Given the description of an element on the screen output the (x, y) to click on. 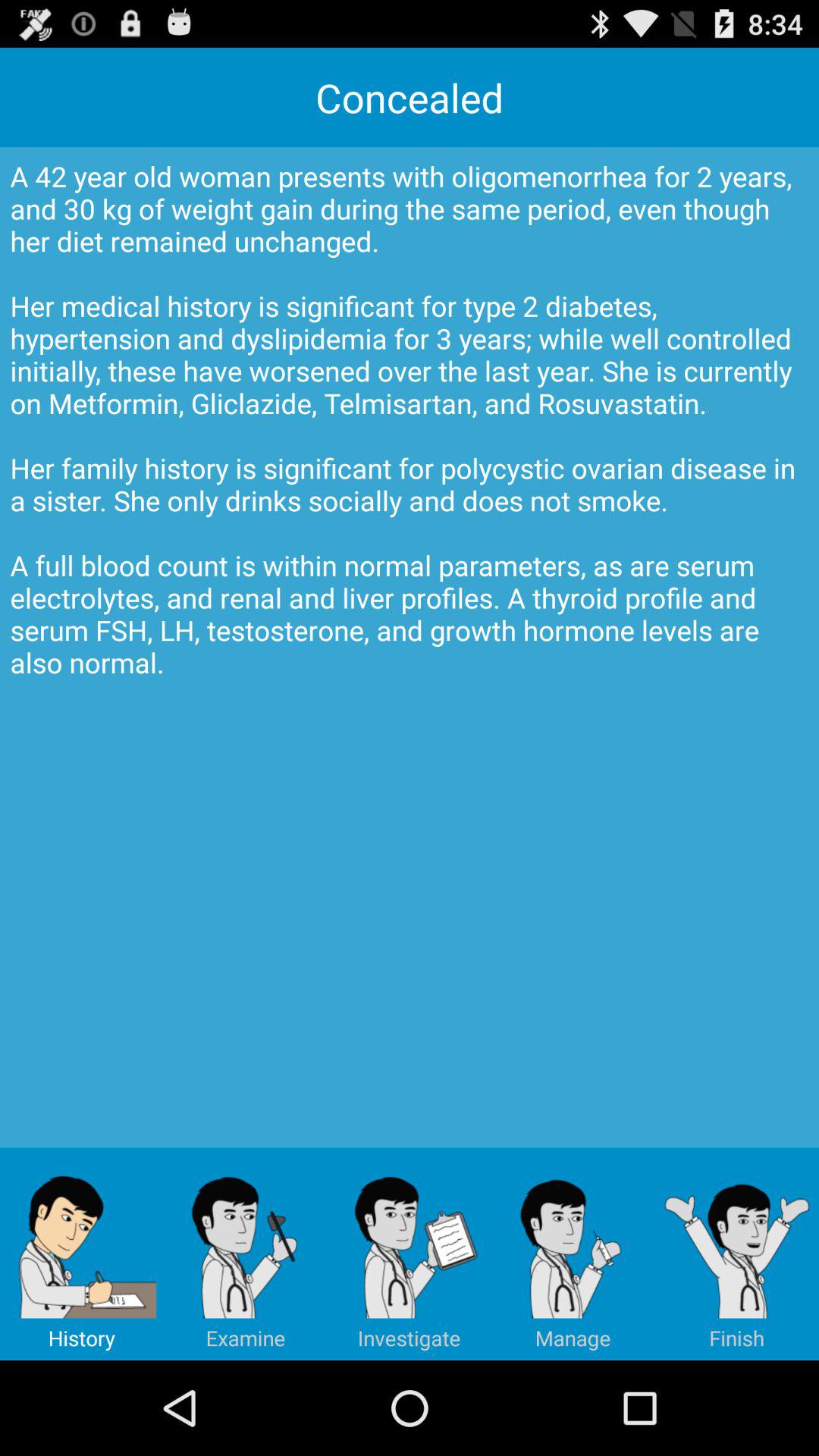
turn on the item below the a 42 year (737, 1253)
